Given the description of an element on the screen output the (x, y) to click on. 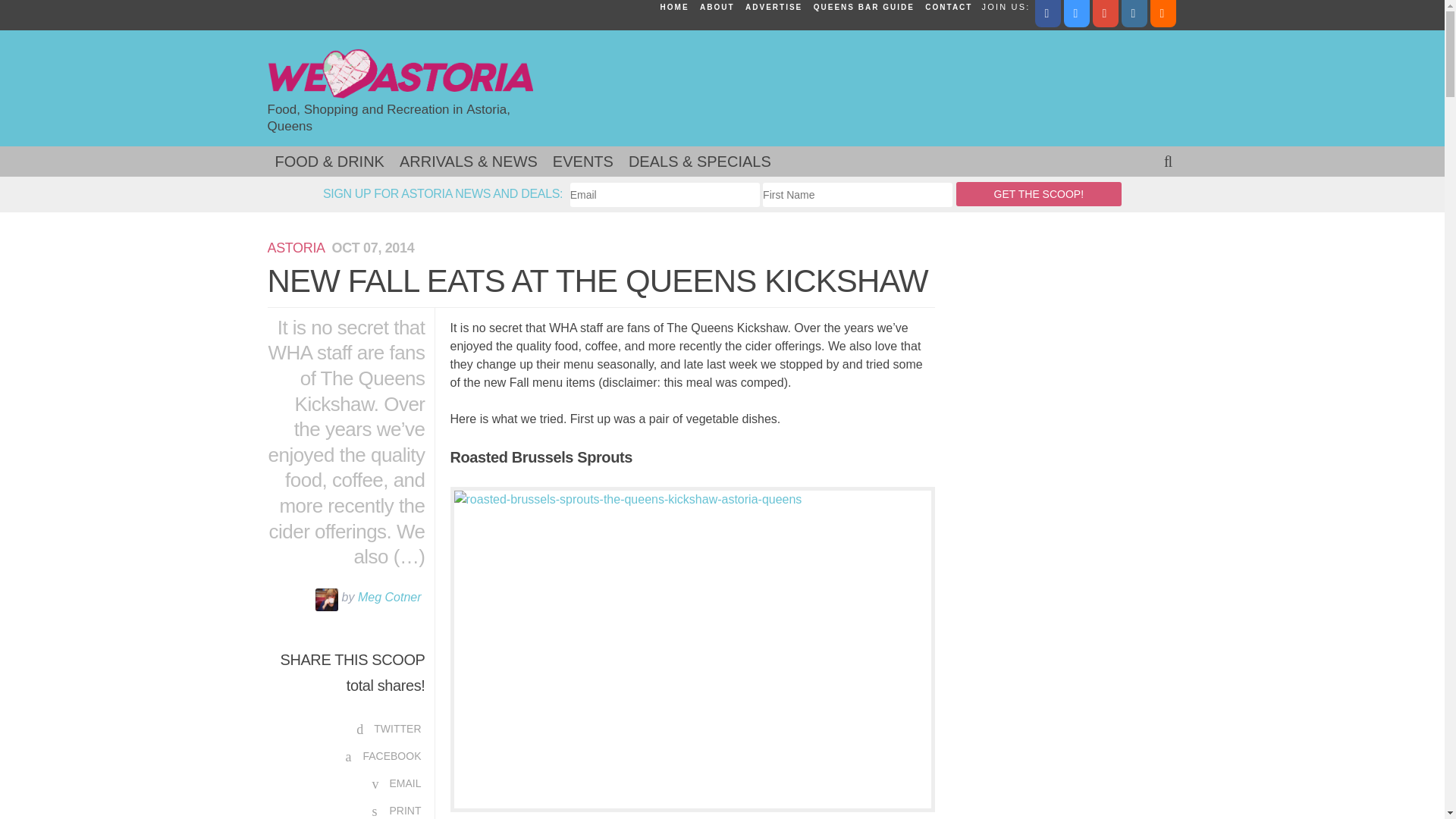
CONTACT (948, 7)
HOME (674, 7)
ADVERTISE (773, 7)
QUEENS BAR GUIDE (863, 7)
ABOUT (716, 7)
Get the Scoop! (1039, 193)
EVENTS (582, 161)
